Given the description of an element on the screen output the (x, y) to click on. 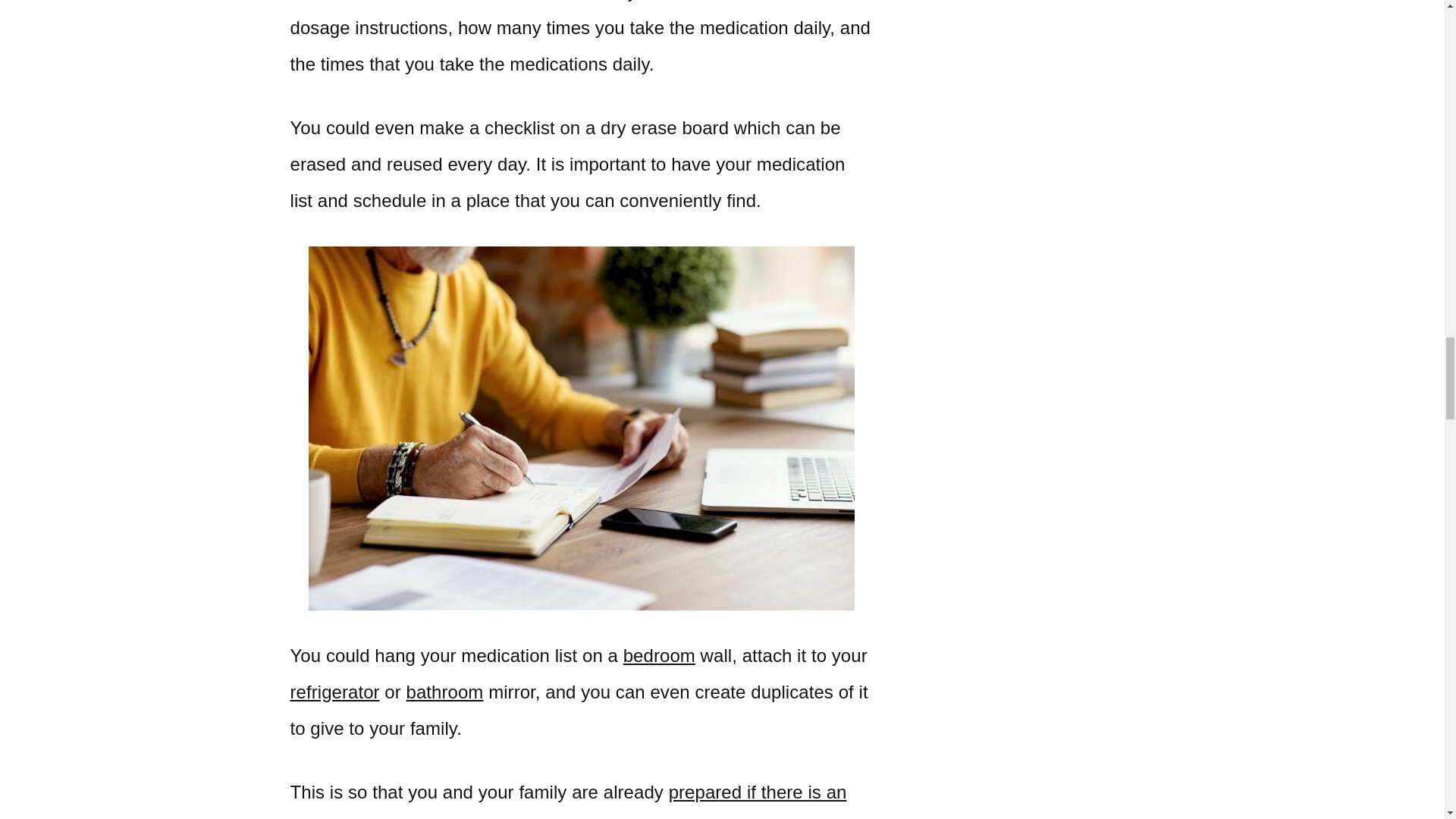
refrigerator (333, 691)
bathroom (444, 691)
bedroom (659, 655)
prepared if there is an emergency (567, 800)
